Given the description of an element on the screen output the (x, y) to click on. 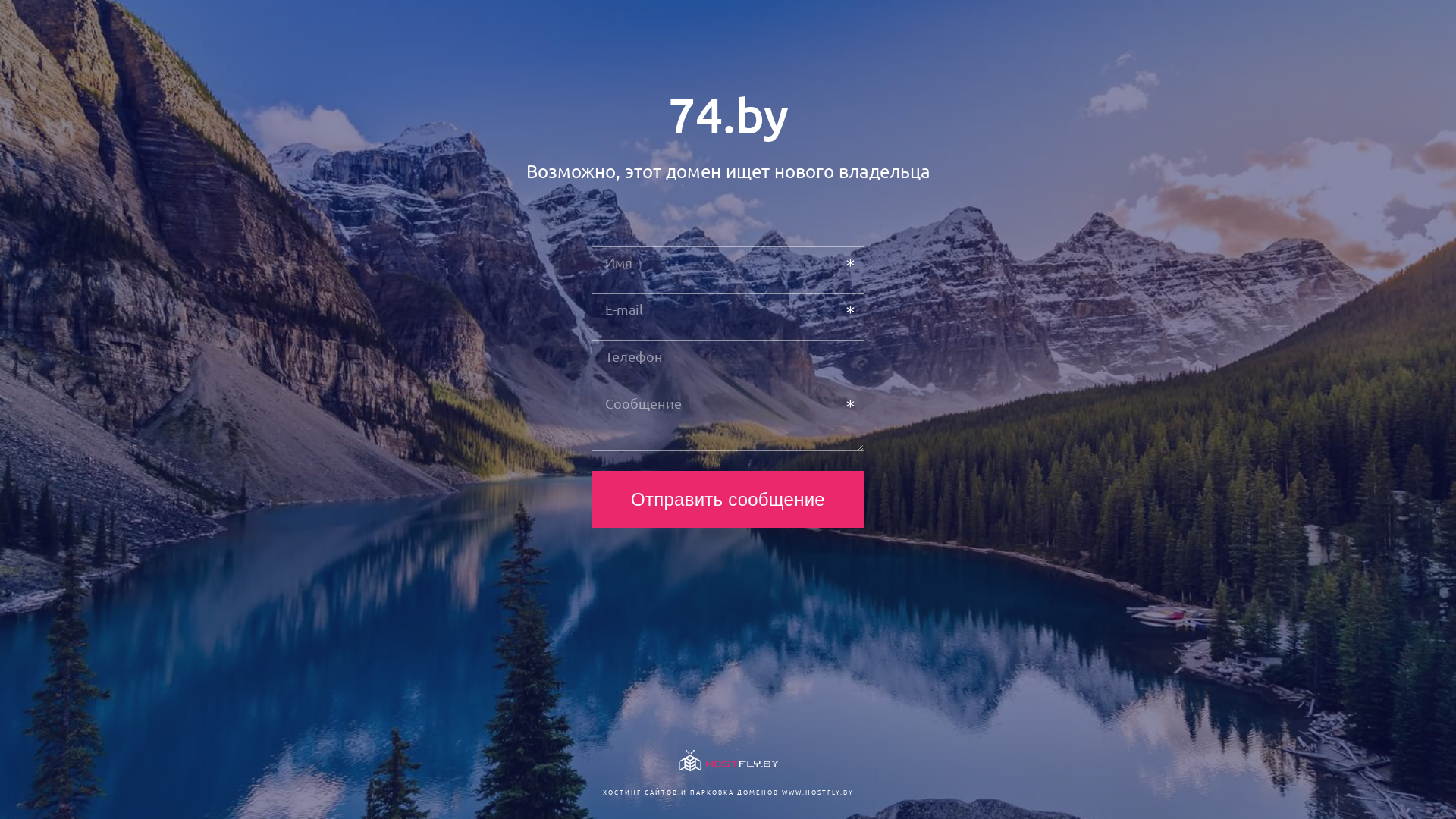
WWW.HOSTFLY.BY Element type: text (817, 791)
